Given the description of an element on the screen output the (x, y) to click on. 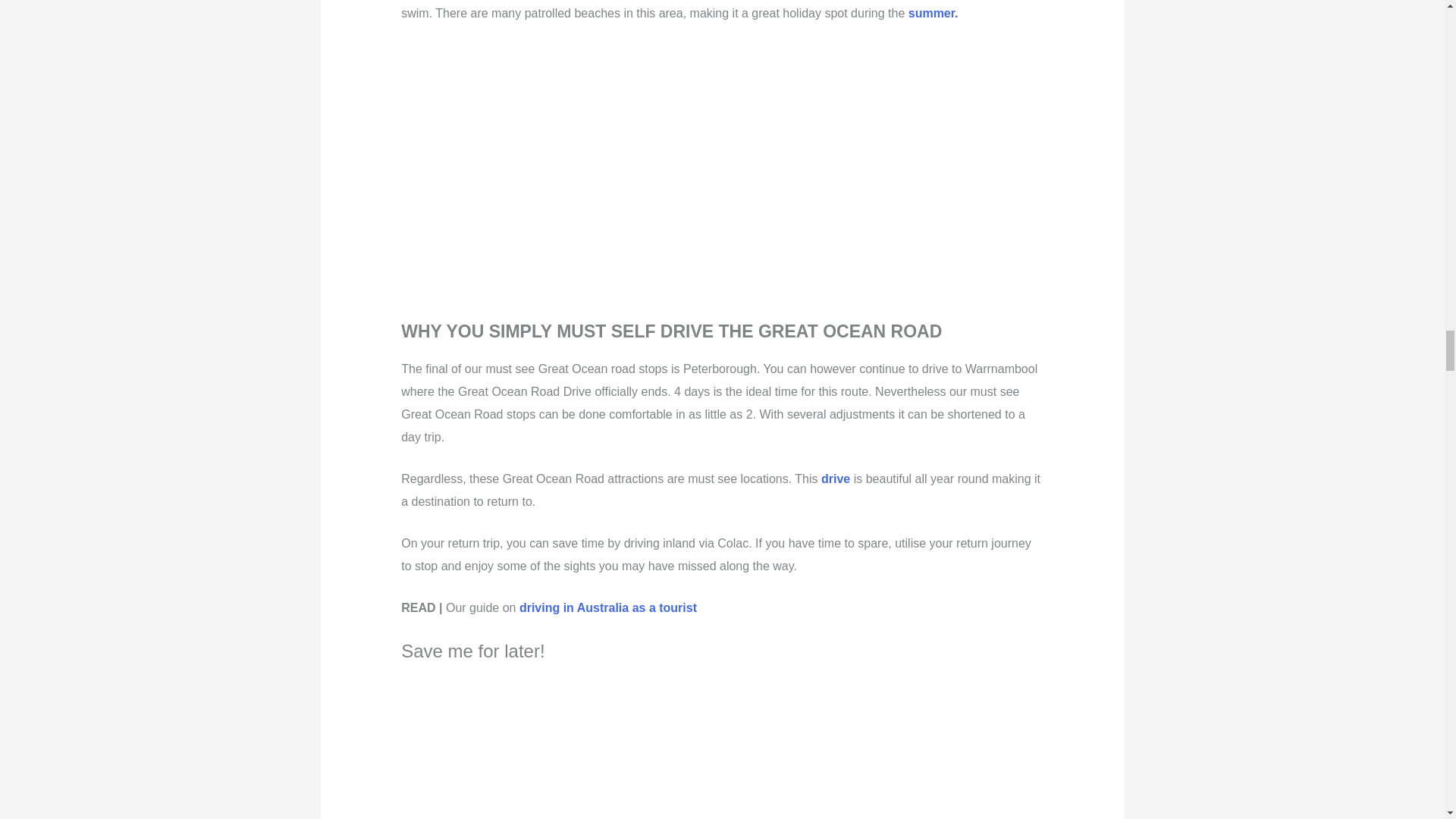
The Best Great Ocean Road Itinerary 7 (673, 174)
